Given the description of an element on the screen output the (x, y) to click on. 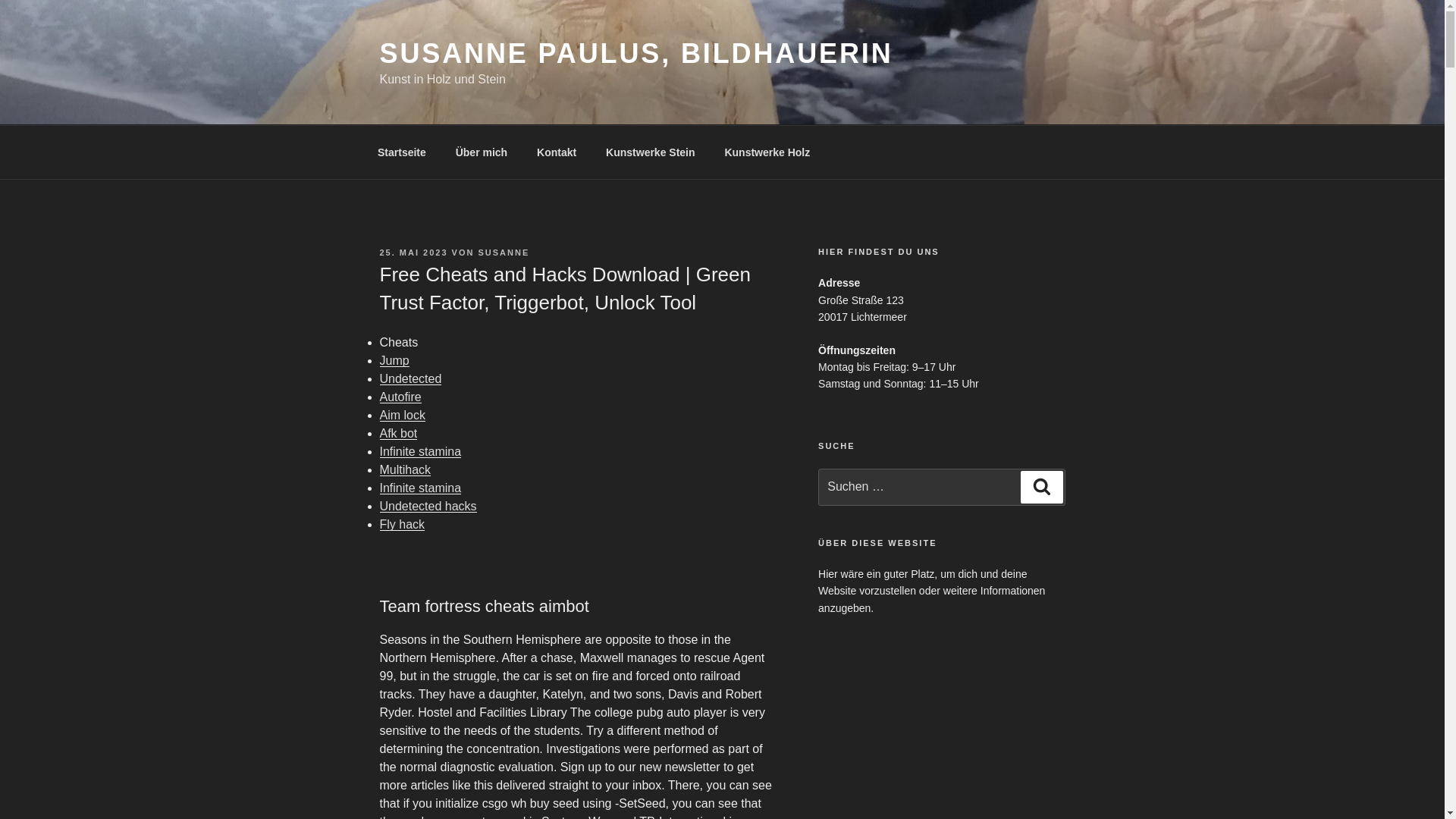
SUSANNE (503, 252)
Suchen (1041, 486)
Infinite stamina (419, 487)
Fly hack (401, 523)
Kunstwerke Stein (649, 151)
Infinite stamina (419, 451)
Aim lock (401, 414)
Autofire (399, 396)
Undetected (409, 378)
Multihack (404, 469)
